Given the description of an element on the screen output the (x, y) to click on. 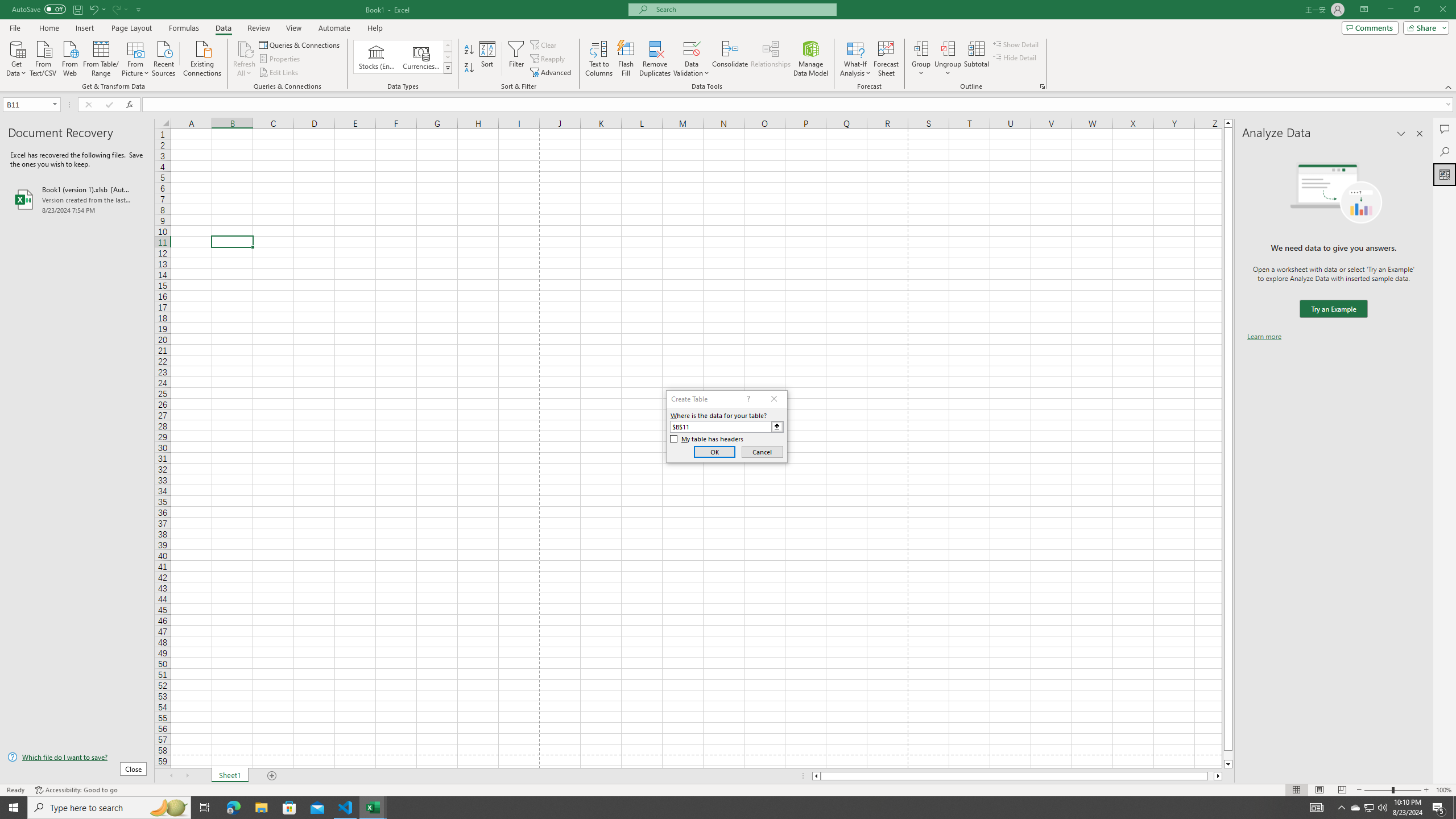
Collapse the Ribbon (1448, 86)
What-If Analysis (855, 58)
Subtotal (976, 58)
Flash Fill (625, 58)
Sheet1 (229, 775)
Close (1442, 9)
Customize Quick Access Toolbar (139, 9)
Relationships (770, 58)
Show Detail (1016, 44)
View (293, 28)
Share (1423, 27)
Class: MsoCommandBar (728, 45)
Refresh All (244, 58)
Group... (921, 58)
Scroll Right (187, 775)
